Given the description of an element on the screen output the (x, y) to click on. 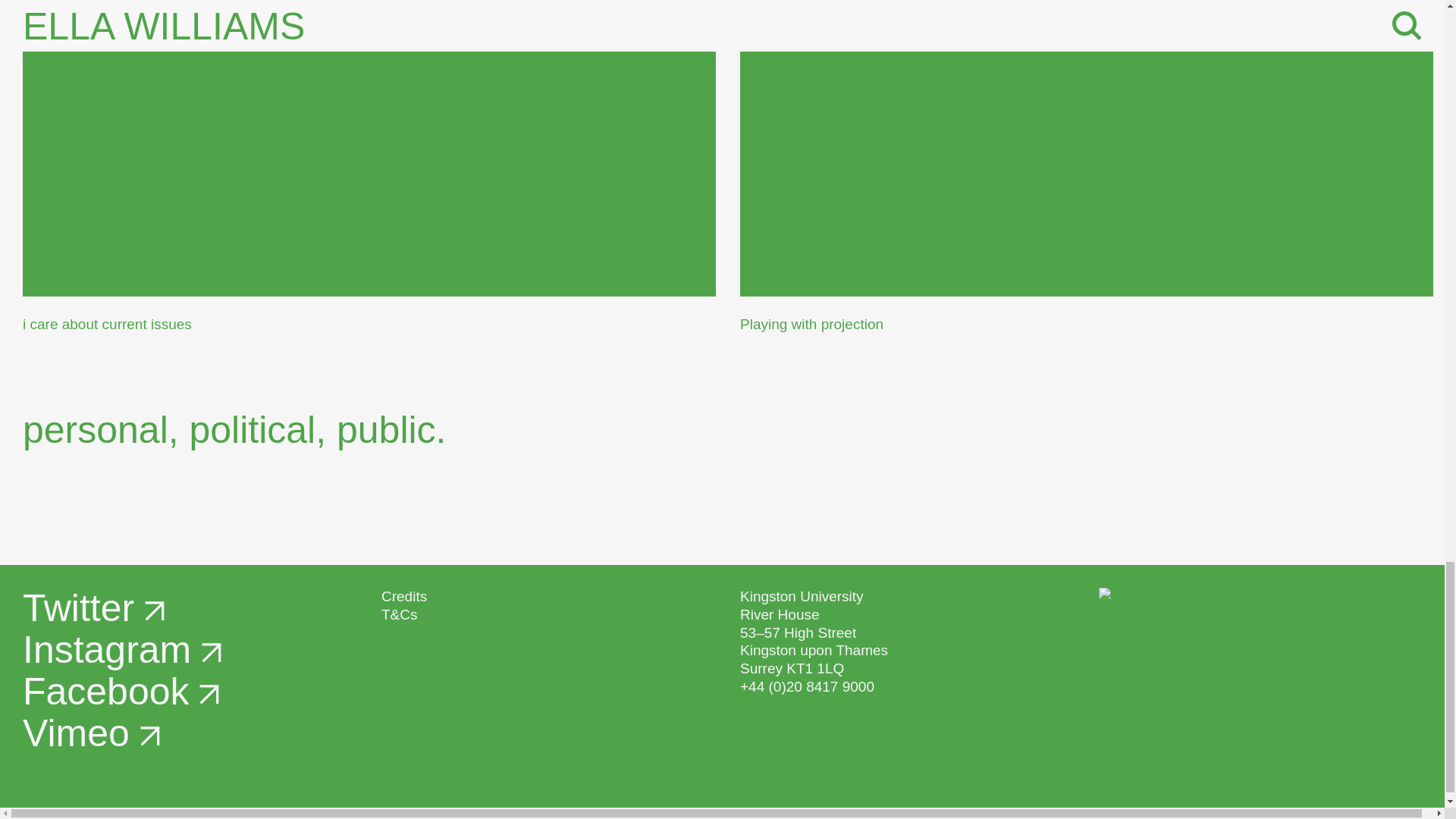
Instagram (122, 649)
Twitter (93, 608)
Facebook (121, 691)
Vimeo (91, 732)
Credits (403, 596)
